Given the description of an element on the screen output the (x, y) to click on. 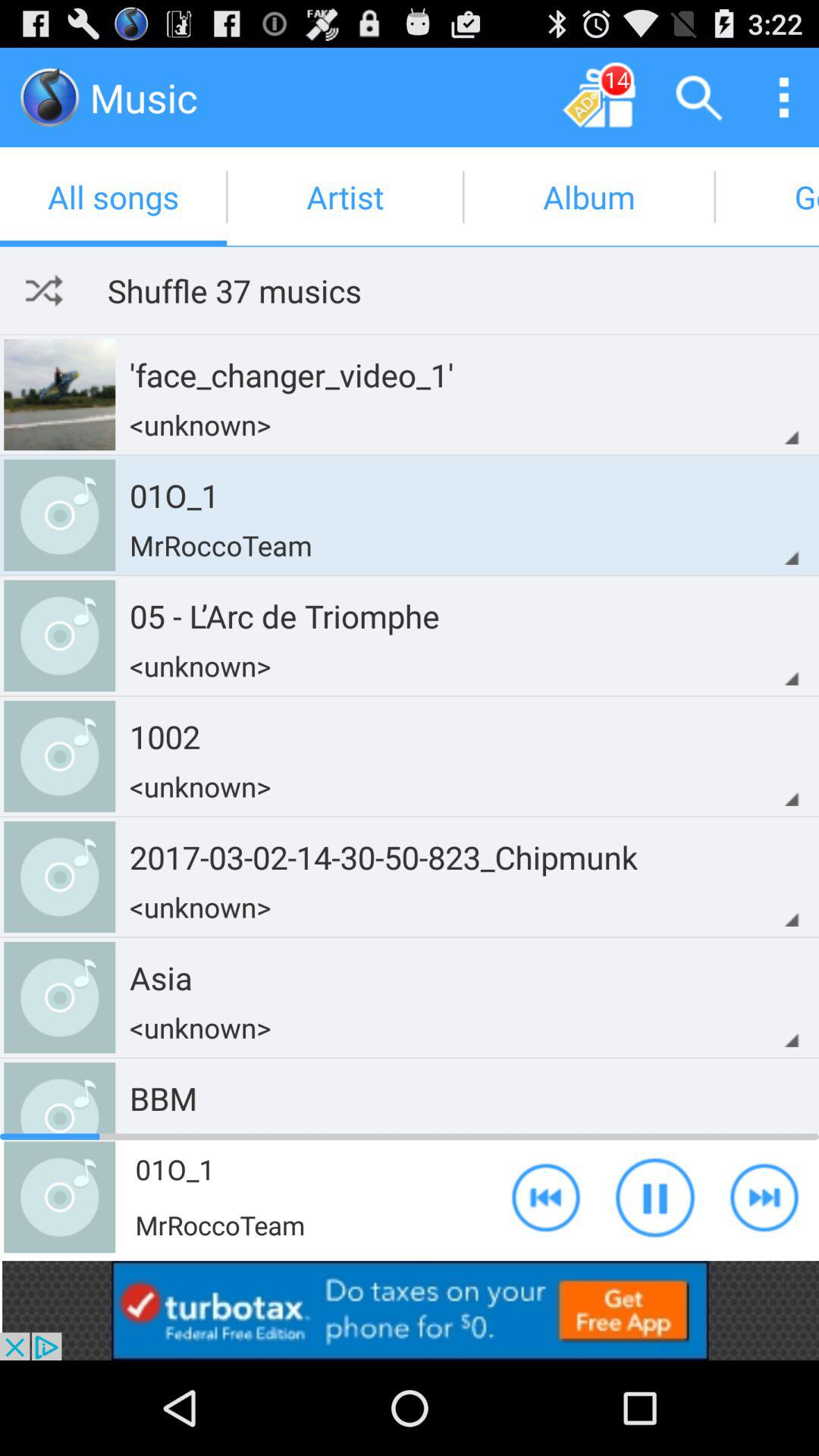
banner advertisement (409, 1310)
